Given the description of an element on the screen output the (x, y) to click on. 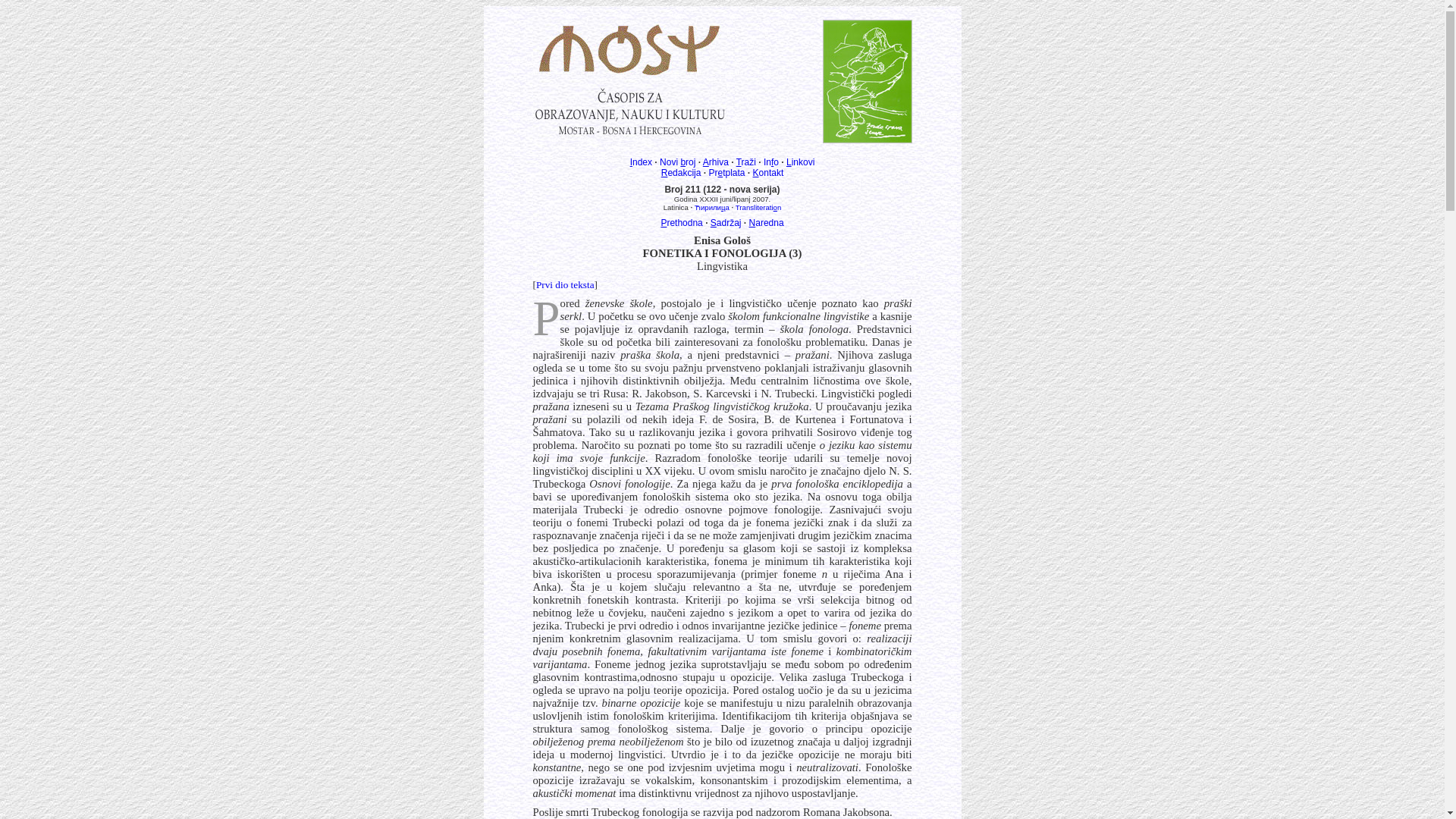
Kontakt Element type: text (768, 172)
Linkovi Element type: text (800, 161)
Most - Index Element type: hover (628, 48)
Transliteration Element type: text (758, 207)
Arhiva Element type: text (715, 161)
Prethodna Element type: text (681, 222)
Naredna Element type: text (766, 222)
Pretplata Element type: text (726, 172)
Redakcija Element type: text (681, 172)
Most - Pretplata Element type: hover (628, 109)
Novi broj Element type: text (677, 161)
Prvi dio teksta Element type: text (565, 284)
Info Element type: text (770, 161)
Index Element type: text (641, 161)
